Given the description of an element on the screen output the (x, y) to click on. 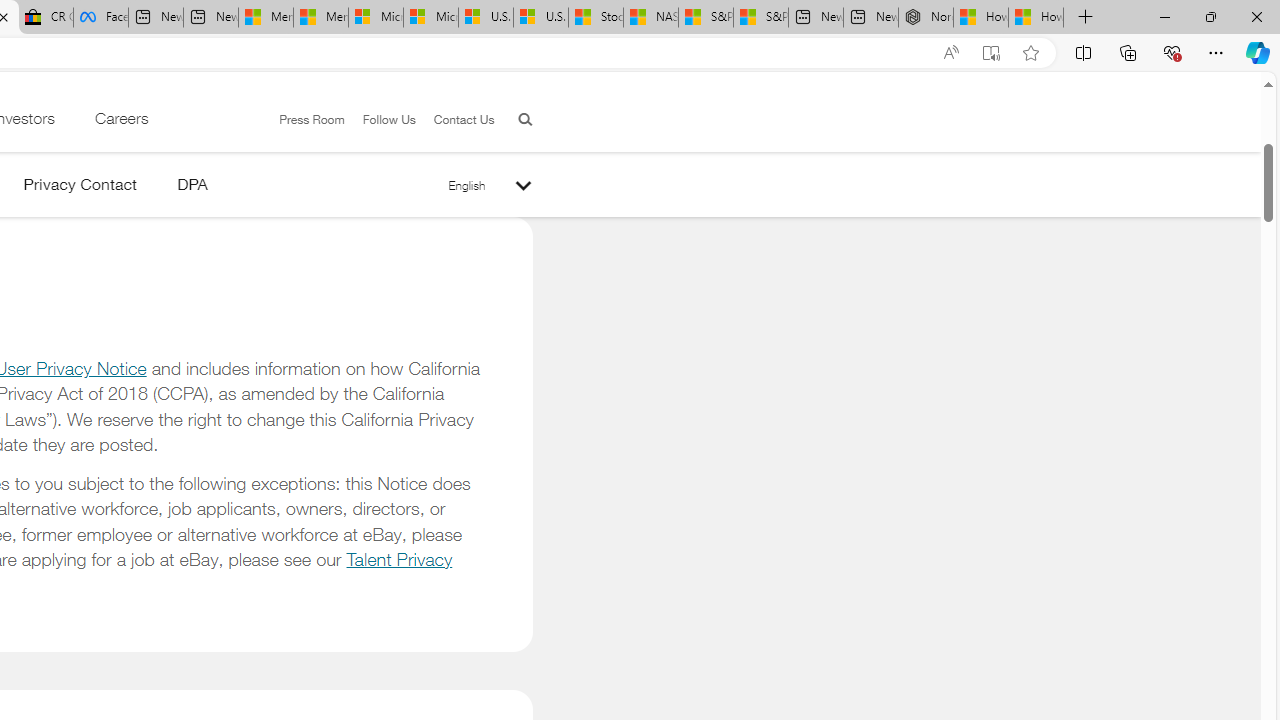
S&P 500, Nasdaq end lower, weighed by Nvidia dip | Watch (760, 17)
Privacy Contact (80, 188)
Enter Immersive Reader (F9) (991, 53)
Facebook (100, 17)
